Given the description of an element on the screen output the (x, y) to click on. 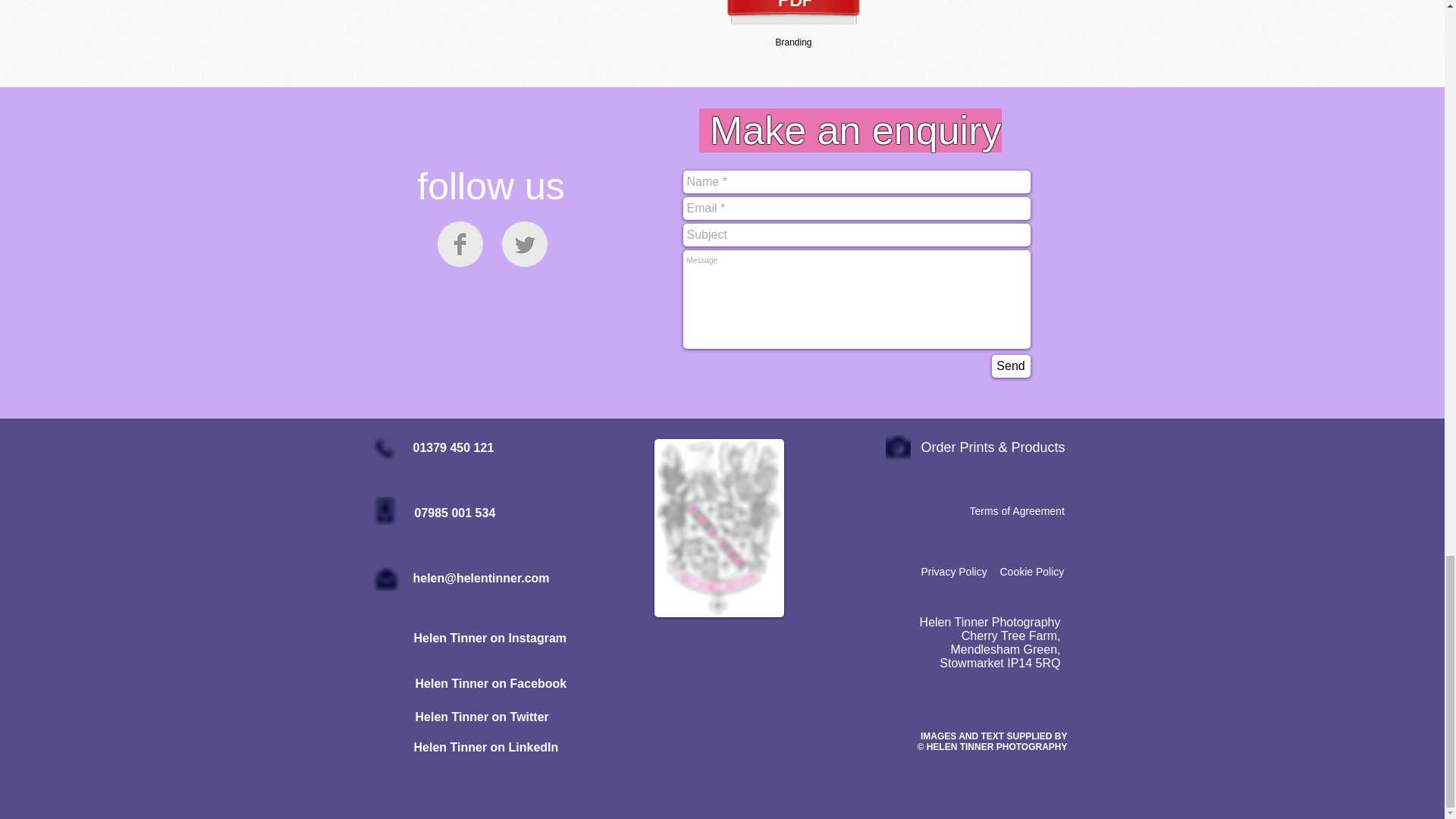
Branding (793, 26)
